Given the description of an element on the screen output the (x, y) to click on. 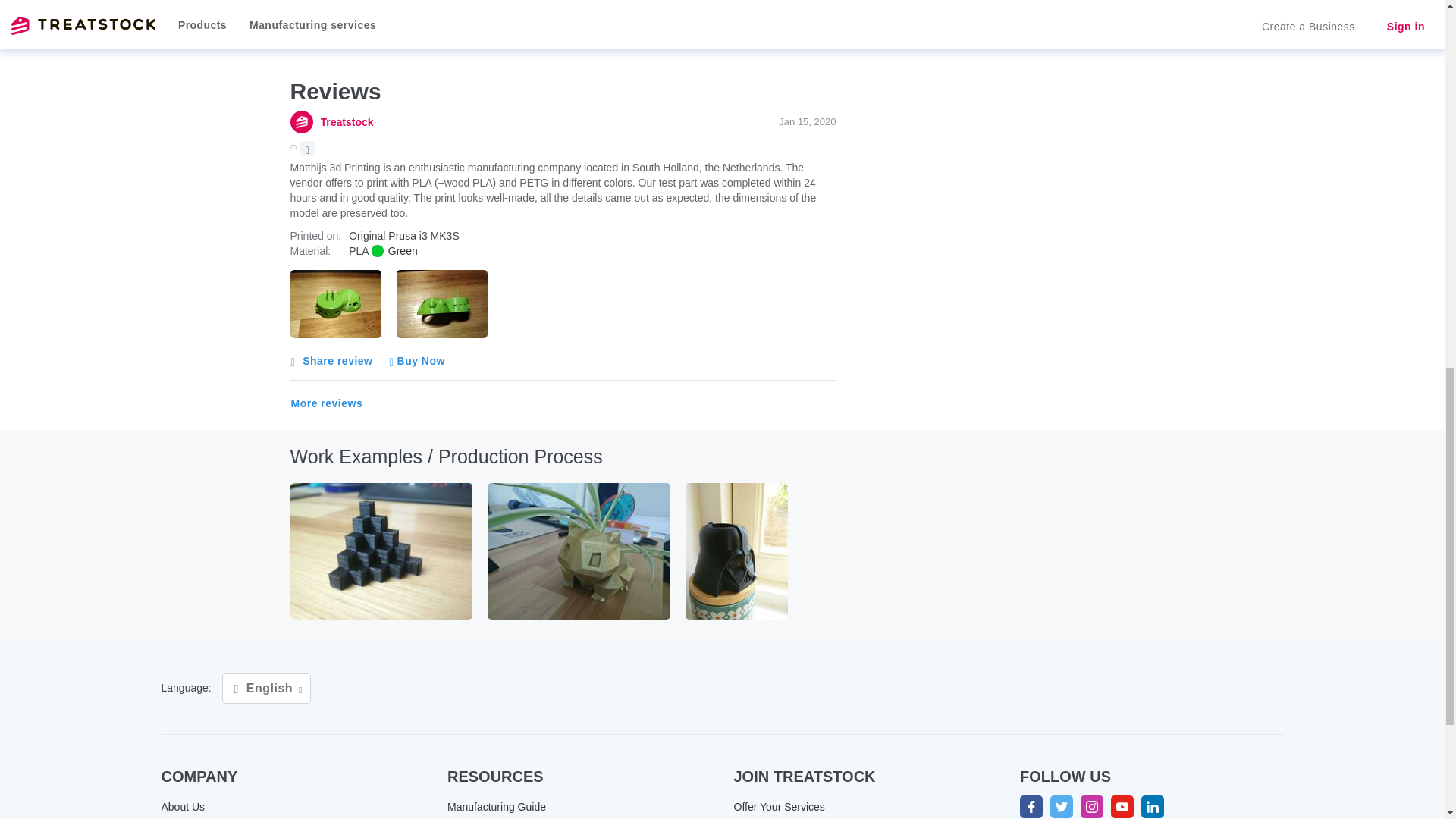
PLA (394, 250)
Facebook (1031, 806)
LinkedIn (1152, 806)
Instagram (1091, 806)
YouTube (1122, 806)
Twitter (1061, 806)
